Given the description of an element on the screen output the (x, y) to click on. 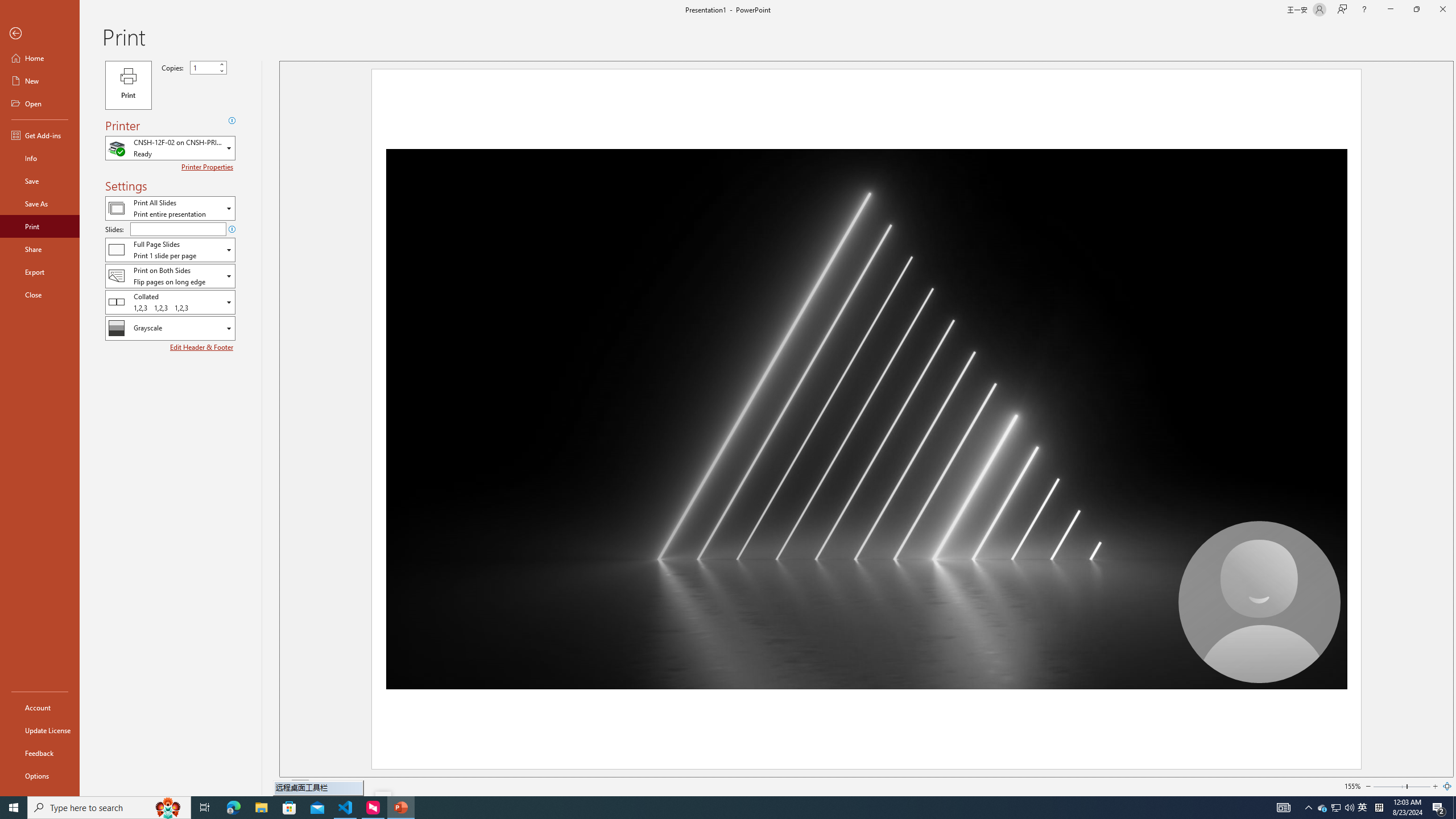
Copies (208, 67)
Page right (1418, 786)
Print (127, 84)
Feedback (40, 753)
Print (40, 225)
Slides and Handouts (169, 249)
Update License (40, 730)
New (40, 80)
Options (40, 775)
